Given the description of an element on the screen output the (x, y) to click on. 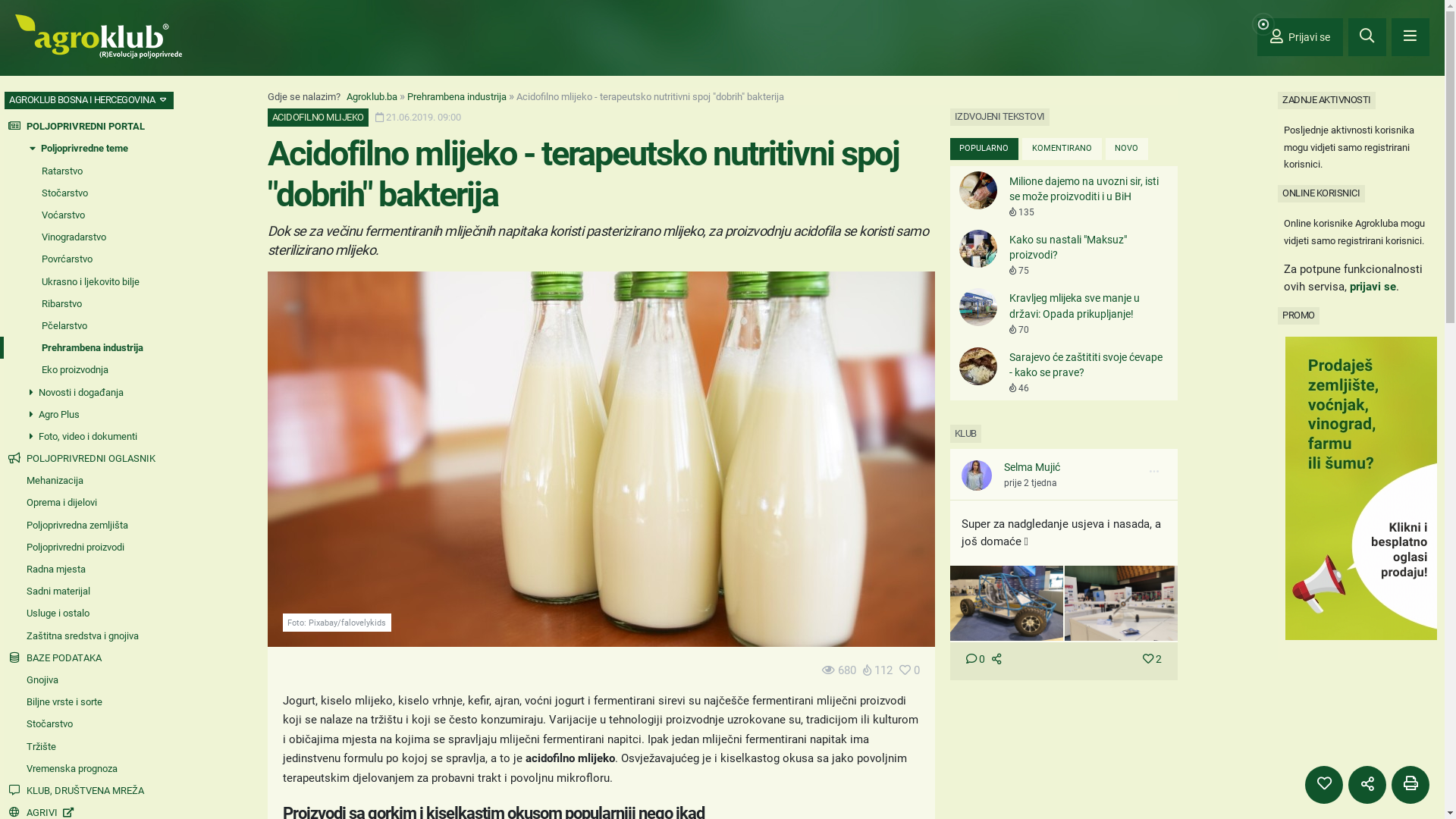
Prehrambena industrija Element type: text (456, 96)
Usluge i ostalo Element type: text (81, 613)
Vremenska prognoza Element type: text (81, 768)
prijavi se Element type: text (1372, 286)
2 Element type: text (1152, 659)
Ribarstvo Element type: text (81, 303)
0 Element type: text (974, 659)
ZADNJE AKTIVNOSTI Element type: text (1326, 99)
Ukrasno i ljekovito bilje Element type: text (81, 281)
Eko proizvodnja Element type: text (81, 369)
prije 2 tjedna Element type: text (1030, 482)
Prijavi se Element type: text (1300, 37)
Agro Plus Element type: text (81, 414)
Kako su nastali "Maksuz" proizvodi?
75 Element type: text (1062, 254)
BAZE PODATAKA Element type: text (81, 657)
POPULARNO Element type: text (983, 149)
Prehrambena industrija Element type: text (81, 347)
POLJOPRIVREDNI PORTAL Element type: text (81, 126)
3rd party ad content Element type: hover (1361, 488)
KOMENTIRANO Element type: text (1061, 149)
Mehanizacija Element type: text (81, 480)
Agroklub.ba Element type: text (370, 96)
Poljoprivredne teme Element type: text (81, 148)
POLJOPRIVREDNI OGLASNIK Element type: text (81, 458)
Foto, video i dokumenti Element type: text (81, 436)
Kako su nastali "Maksuz" proizvodi? Element type: hover (978, 248)
Oprema i dijelovi Element type: text (81, 502)
Gnojiva Element type: text (81, 679)
Biljne vrste i sorte Element type: text (81, 701)
Ratarstvo Element type: text (81, 171)
NOVO Element type: text (1126, 149)
Vinogradarstvo Element type: text (81, 236)
Sadni materijal Element type: text (81, 591)
Poljoprivredni proizvodi Element type: text (81, 547)
Radna mjesta Element type: text (81, 569)
AGROKLUB BOSNA I HERCEGOVINA Element type: text (88, 99)
ONLINE KORISNICI Element type: text (1320, 192)
